Given the description of an element on the screen output the (x, y) to click on. 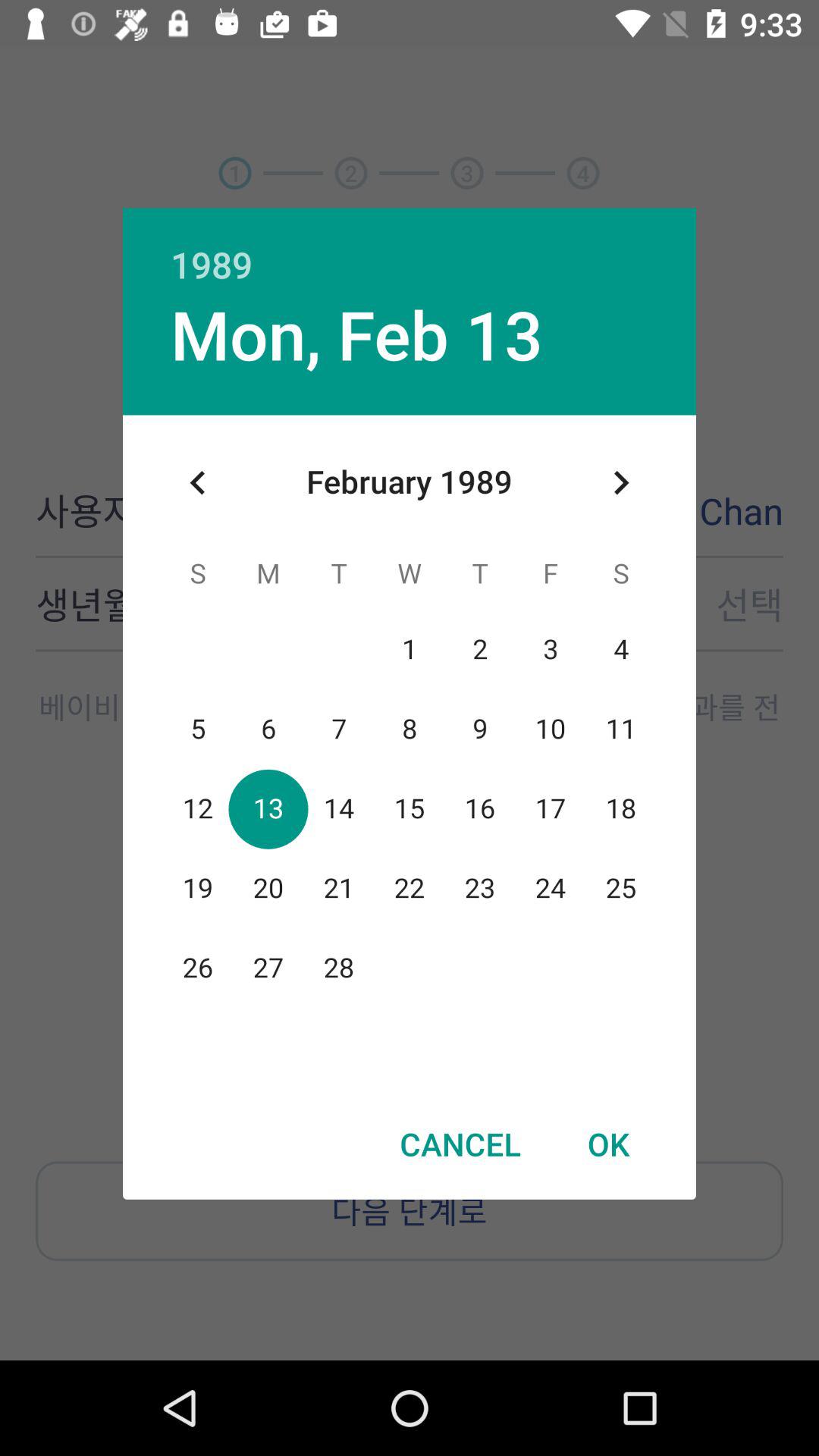
open item next to the cancel item (608, 1143)
